Given the description of an element on the screen output the (x, y) to click on. 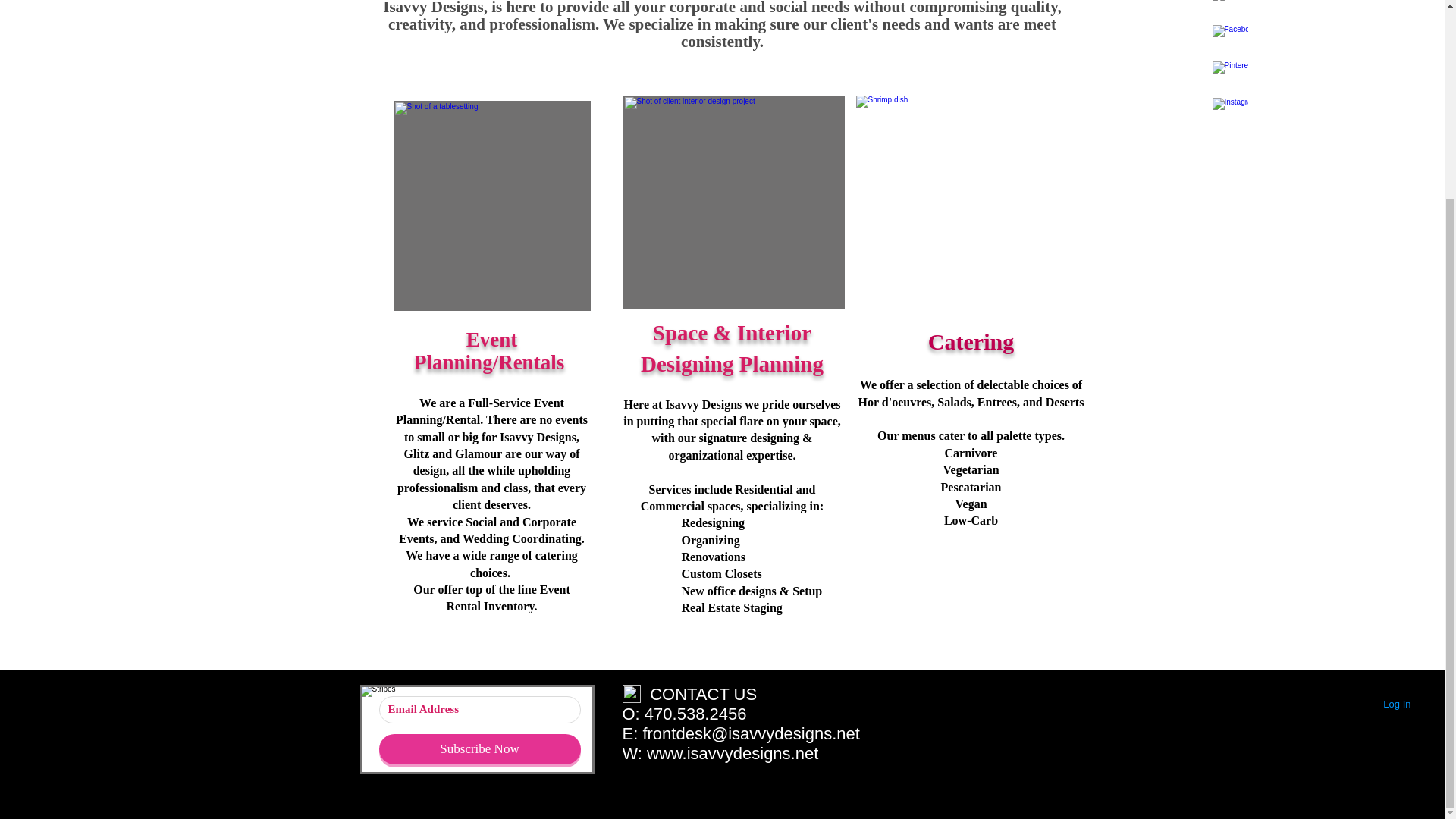
www.isavvydesigns.net (732, 752)
Log In (1397, 703)
Subscribe Now (479, 748)
